Given the description of an element on the screen output the (x, y) to click on. 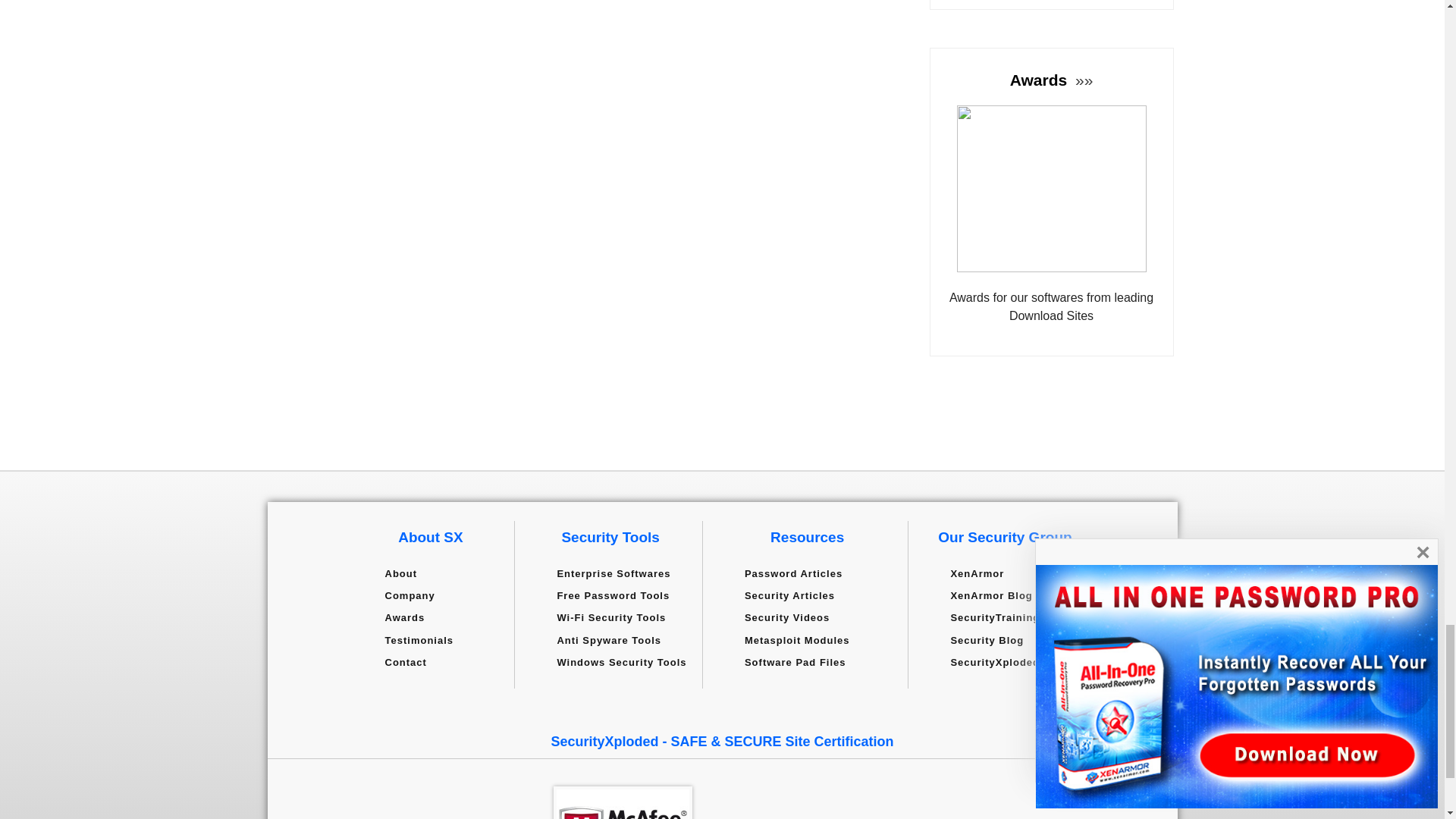
See More... (1082, 79)
McAfee Site Advisor - SAFE Rating (623, 802)
